Given the description of an element on the screen output the (x, y) to click on. 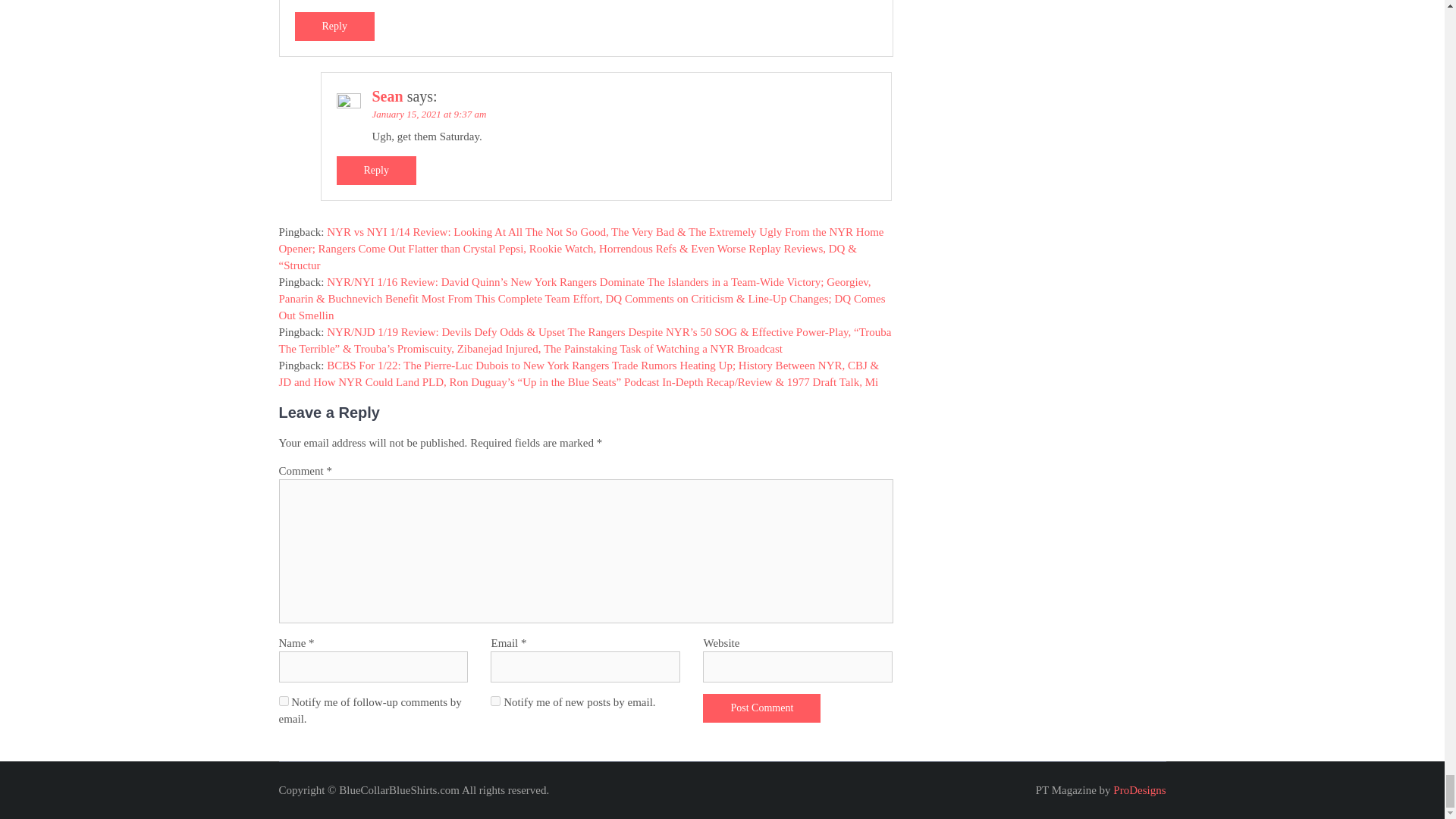
subscribe (283, 700)
subscribe (495, 700)
Post Comment (762, 707)
